Given the description of an element on the screen output the (x, y) to click on. 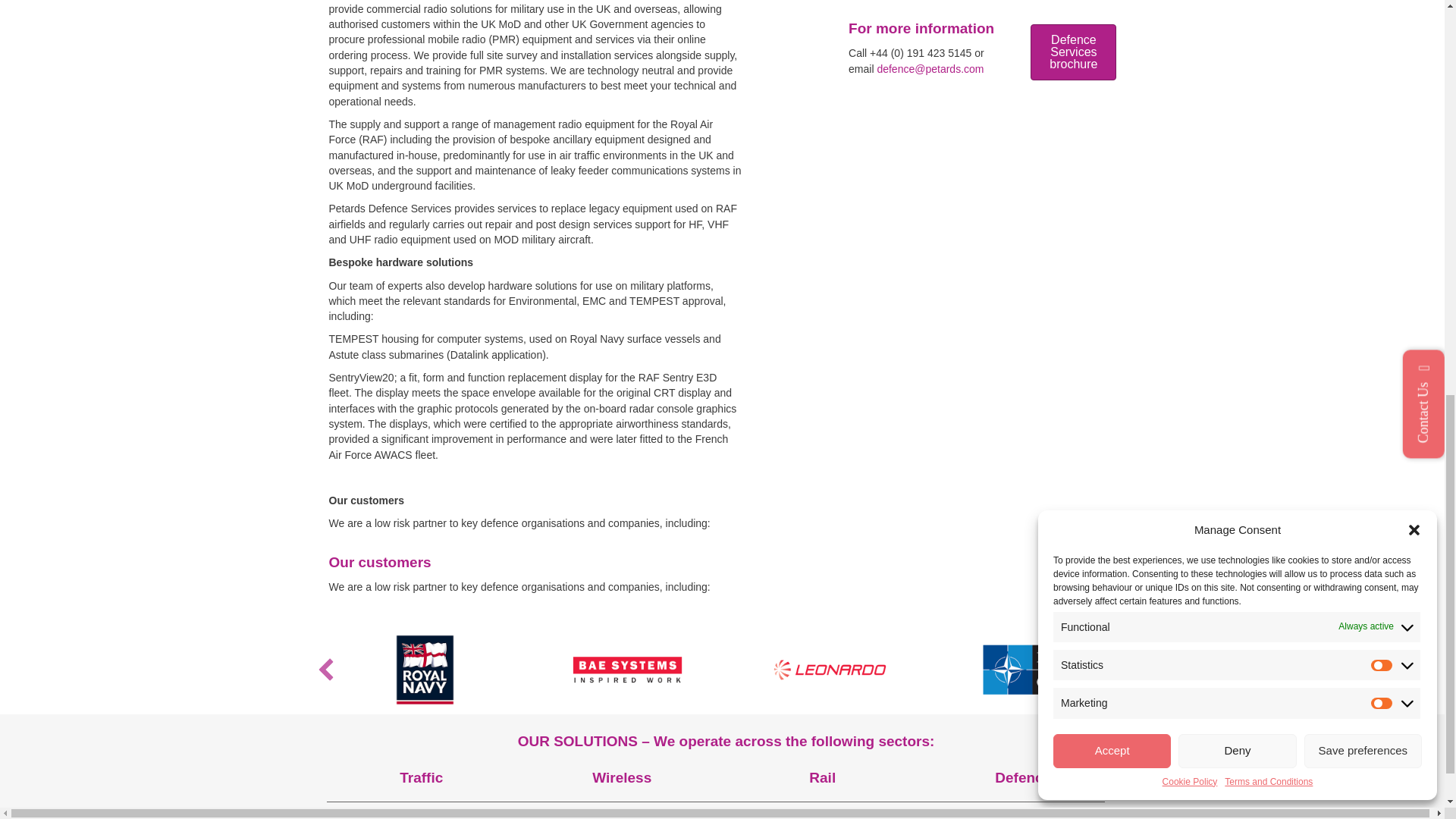
BAE-500x350-centred-transparent (626, 669)
RoyalNavy-500x350-centred-transparent (424, 669)
